Given the description of an element on the screen output the (x, y) to click on. 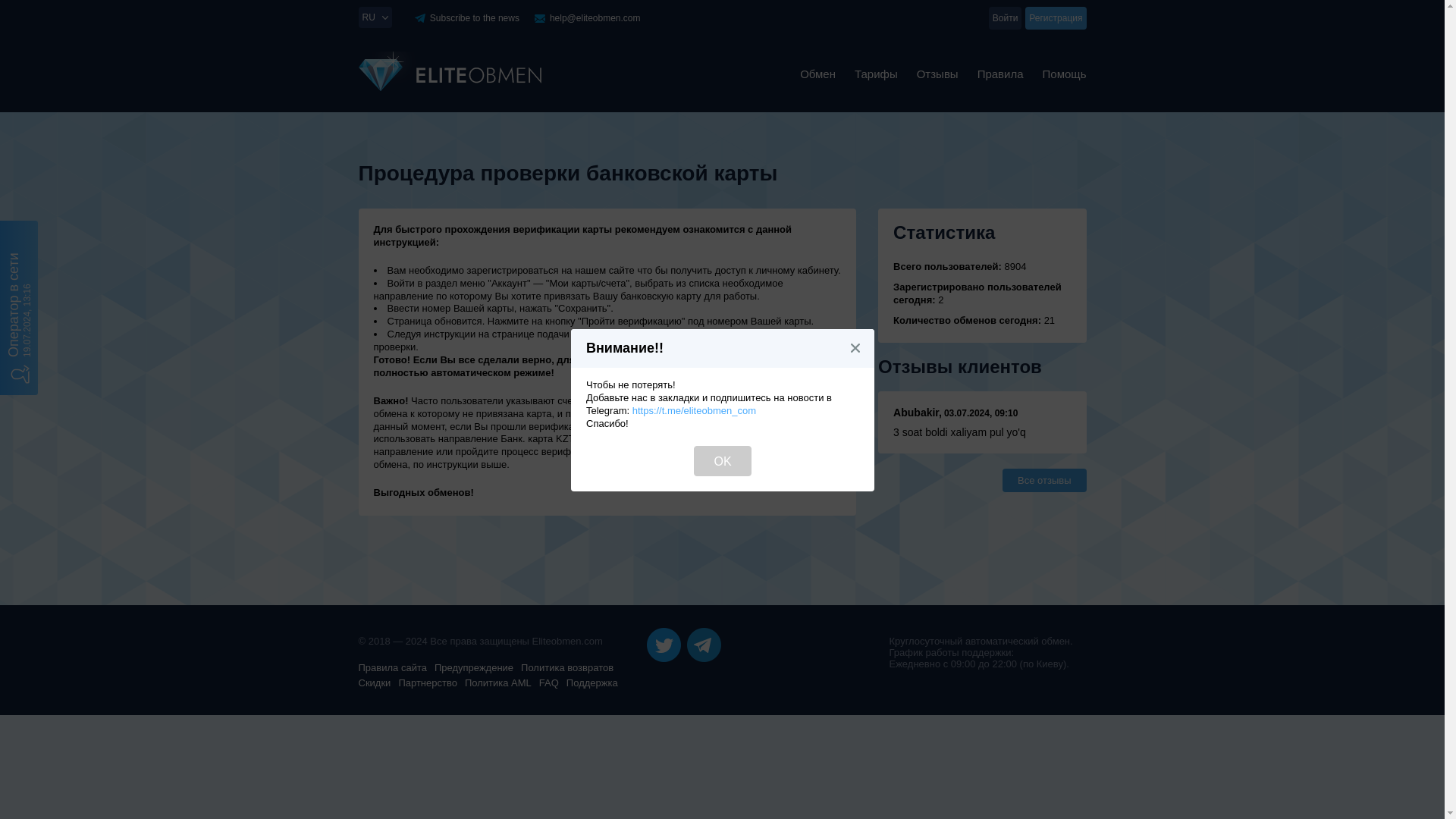
OK (722, 460)
Subscribe to the news (474, 18)
